Given the description of an element on the screen output the (x, y) to click on. 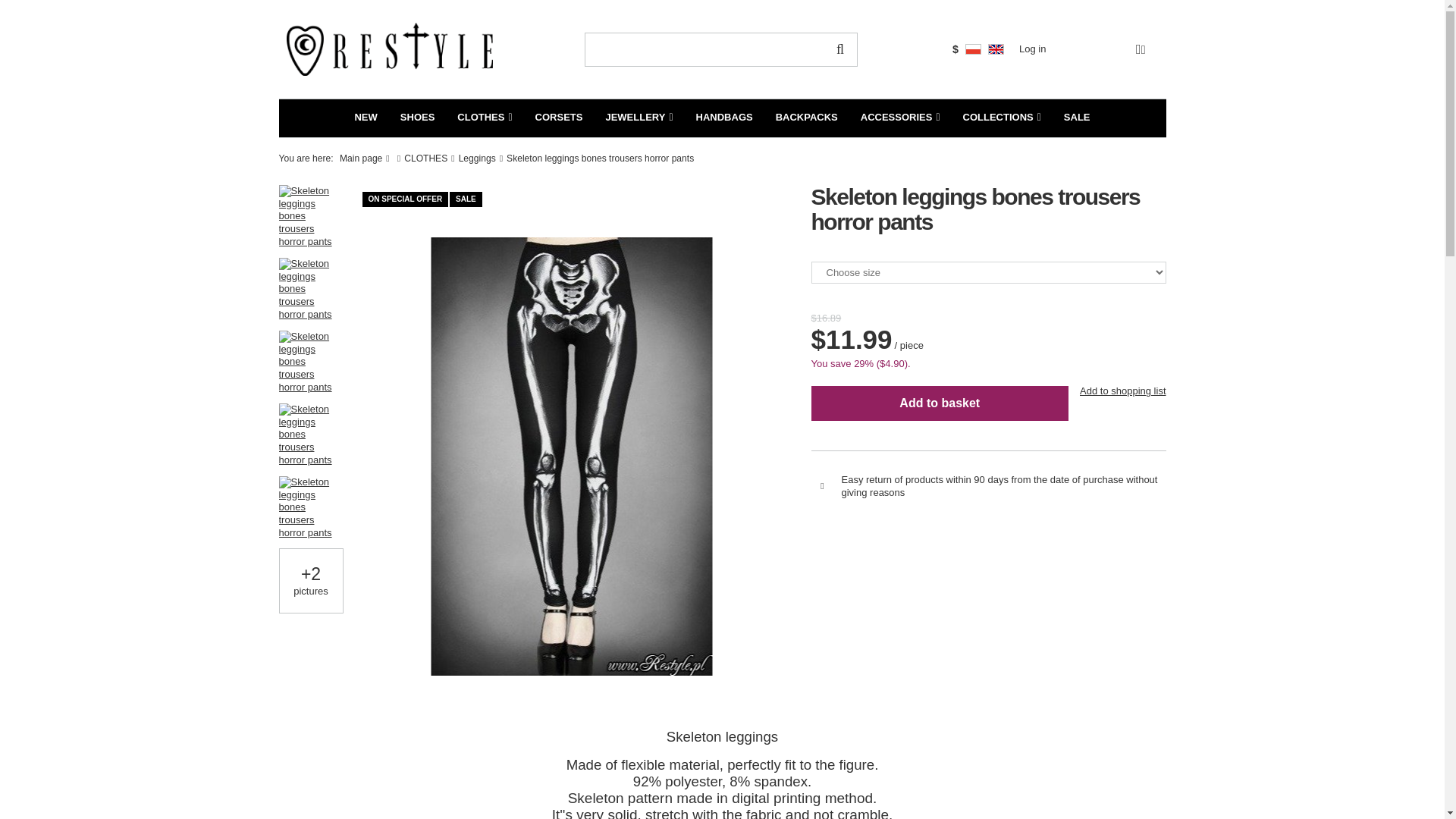
CORSETS (559, 118)
BACKPACKS (806, 118)
CLOTHES (483, 118)
CLOTHES (483, 118)
JEWELLERY (639, 118)
HANDBAGS (724, 118)
SHOES (417, 118)
JEWELLERY (639, 118)
NEW (365, 118)
ACCESSORIES (900, 118)
CORSETS (559, 118)
SHOES (417, 118)
HANDBAGS (724, 118)
BACKPACKS (806, 118)
NEW (365, 118)
